Given the description of an element on the screen output the (x, y) to click on. 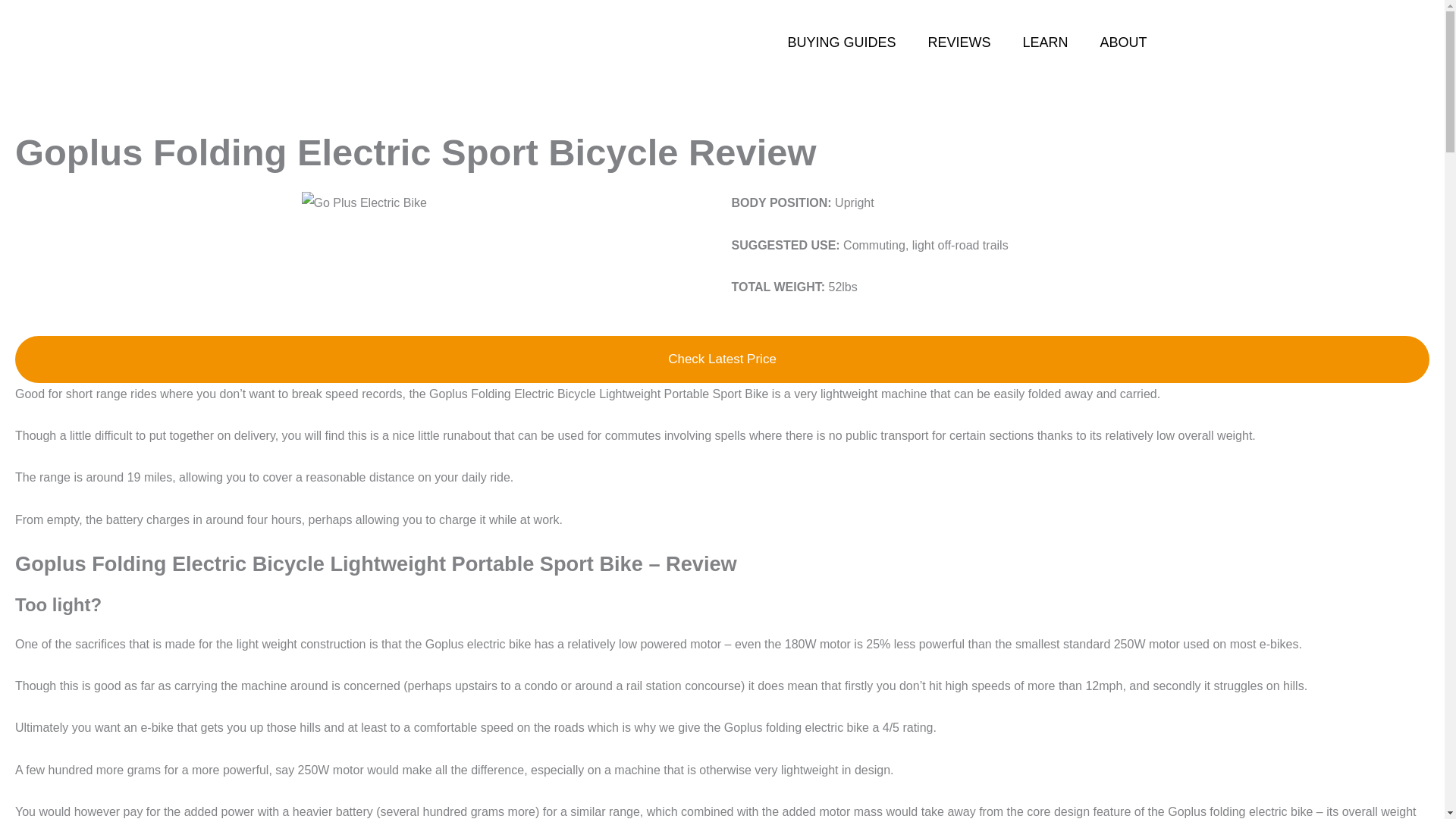
ABOUT (1123, 42)
BUYING GUIDES (841, 42)
LEARN (1044, 42)
Goplus Folding Electric Sport Bicycle Review 1 (363, 202)
REVIEWS (958, 42)
